Given the description of an element on the screen output the (x, y) to click on. 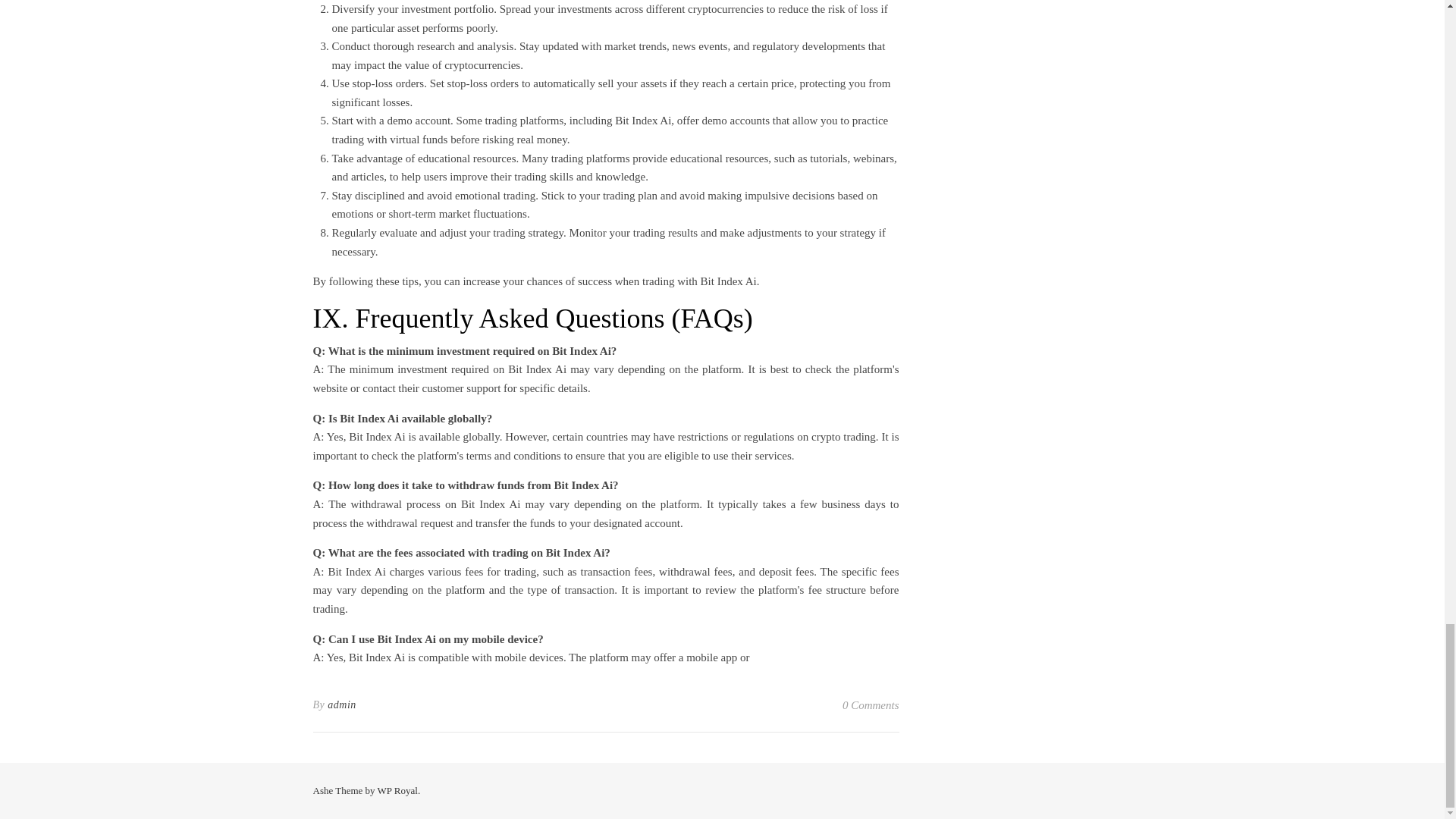
admin (341, 704)
0 Comments (871, 704)
Posts by admin (341, 704)
